Given the description of an element on the screen output the (x, y) to click on. 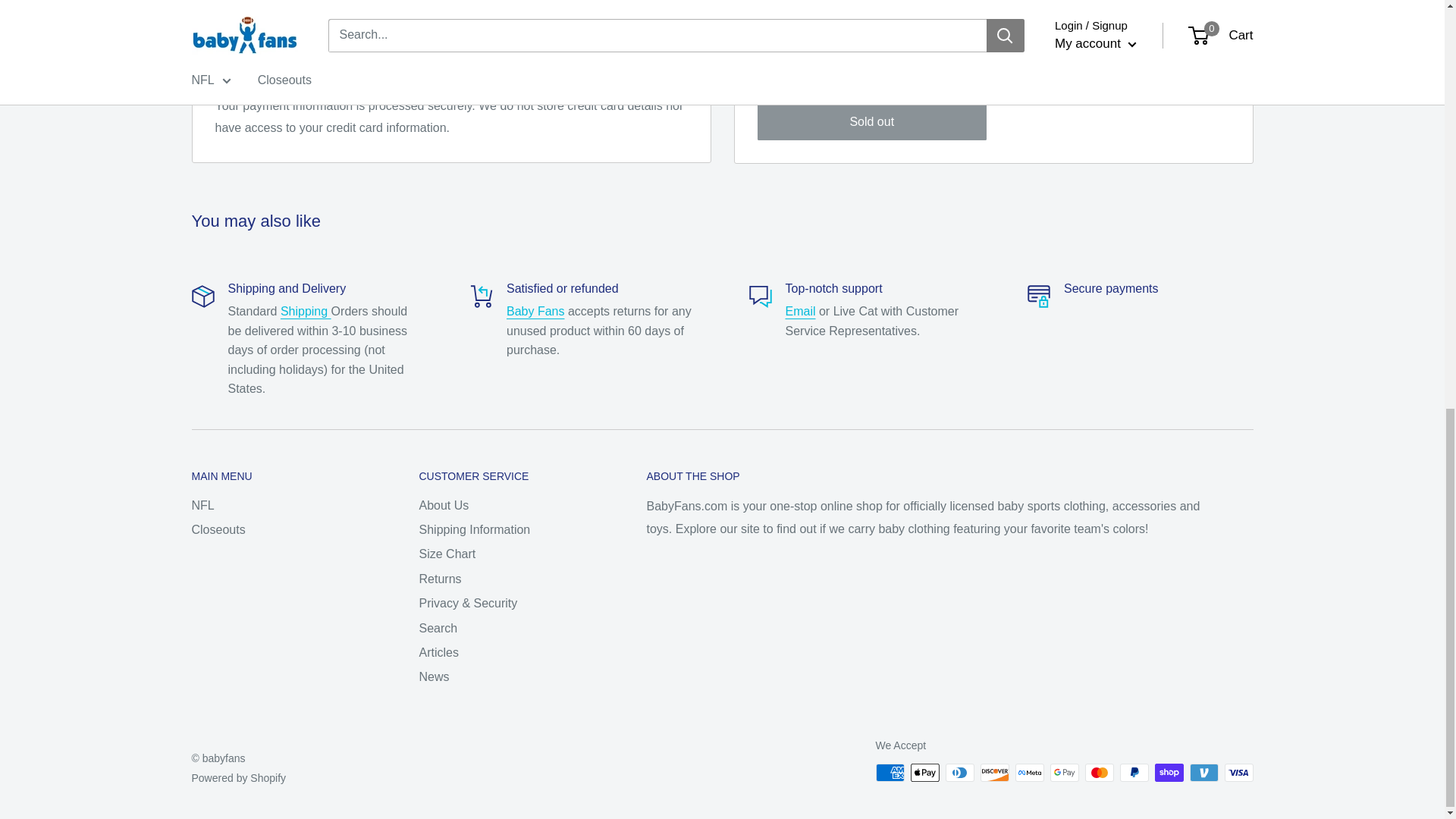
Contact Us (800, 310)
Returns (535, 310)
Shipping Policy (306, 310)
